Given the description of an element on the screen output the (x, y) to click on. 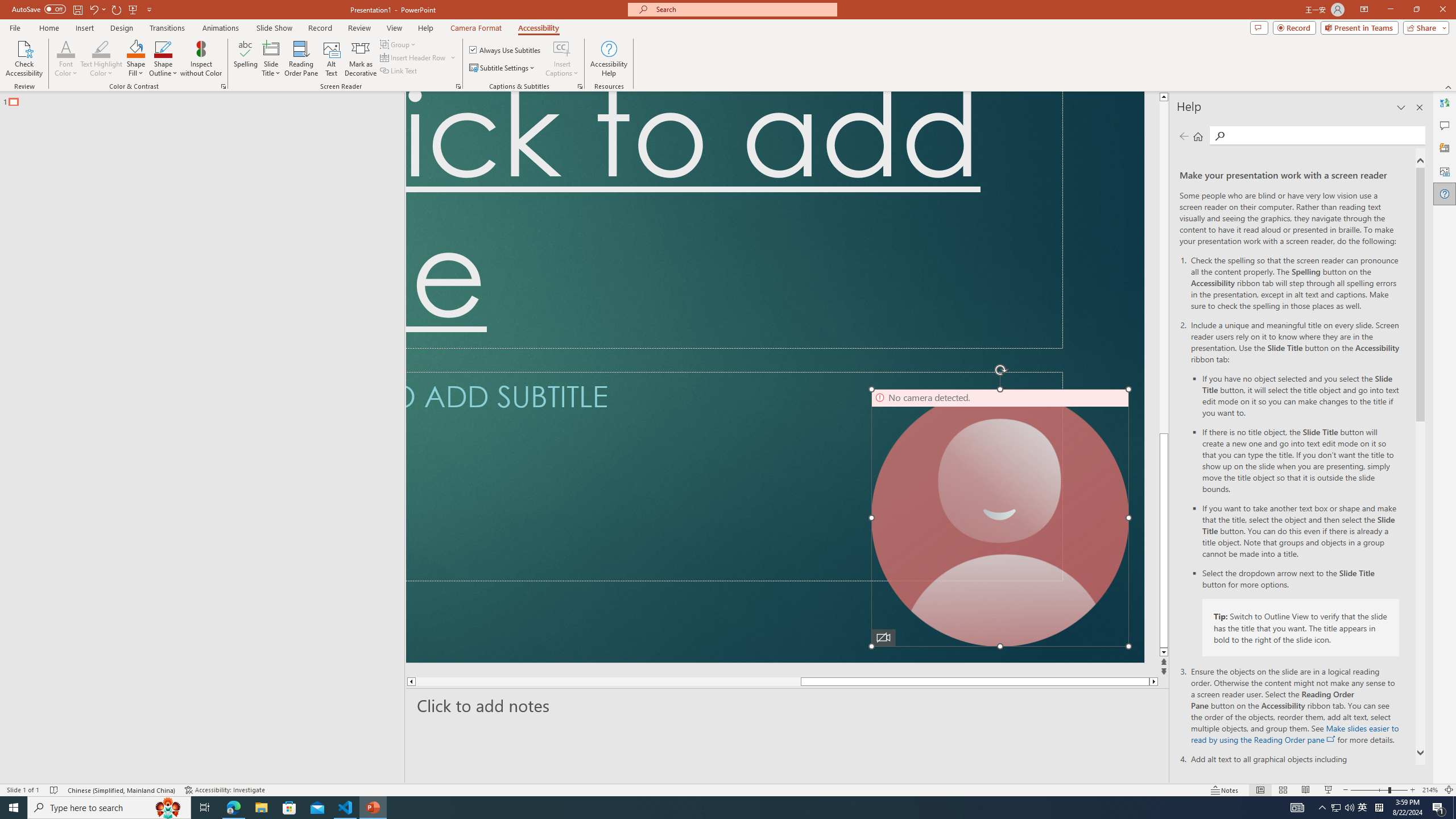
Translator (1444, 102)
Quick Access Toolbar (82, 9)
Screen Reader (458, 85)
Slide Notes (787, 705)
Zoom In (1412, 790)
Normal (1260, 790)
Help (1444, 193)
Close pane (1419, 107)
Minimize (1390, 9)
Close (1442, 9)
Comments (1259, 27)
Insert Header Row (418, 56)
